Given the description of an element on the screen output the (x, y) to click on. 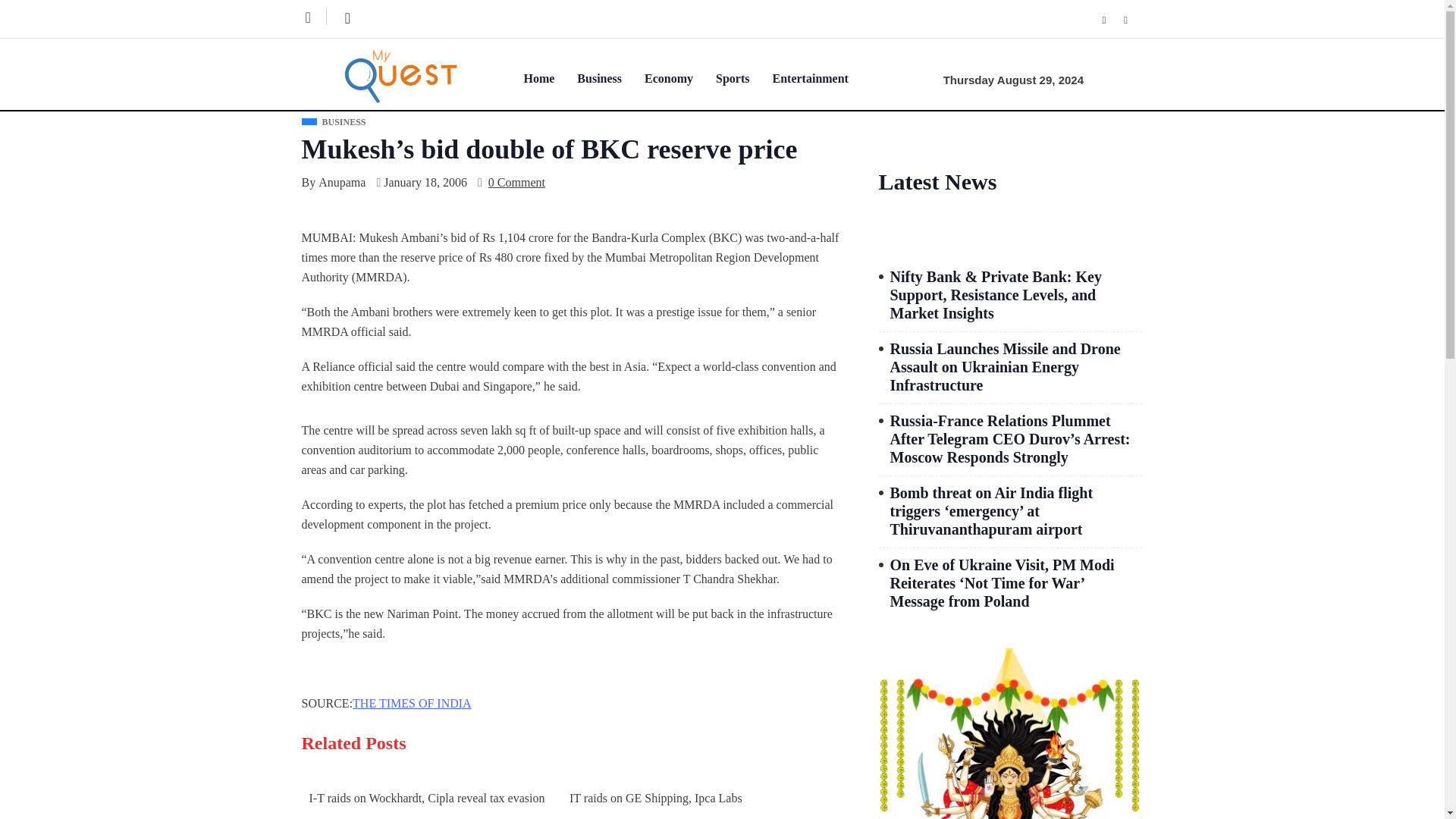
I-T raids on Wockhardt, Cipla reveal tax evasion (429, 798)
I-T raids on Wockhardt, Cipla reveal tax evasion (429, 798)
Economy (680, 78)
Business (610, 78)
0 Comment (515, 182)
Anupama (341, 182)
Sports (743, 78)
Home (549, 78)
THE TIMES OF INDIA (411, 703)
IT raids on GE Shipping, Ipca Labs (690, 798)
